Given the description of an element on the screen output the (x, y) to click on. 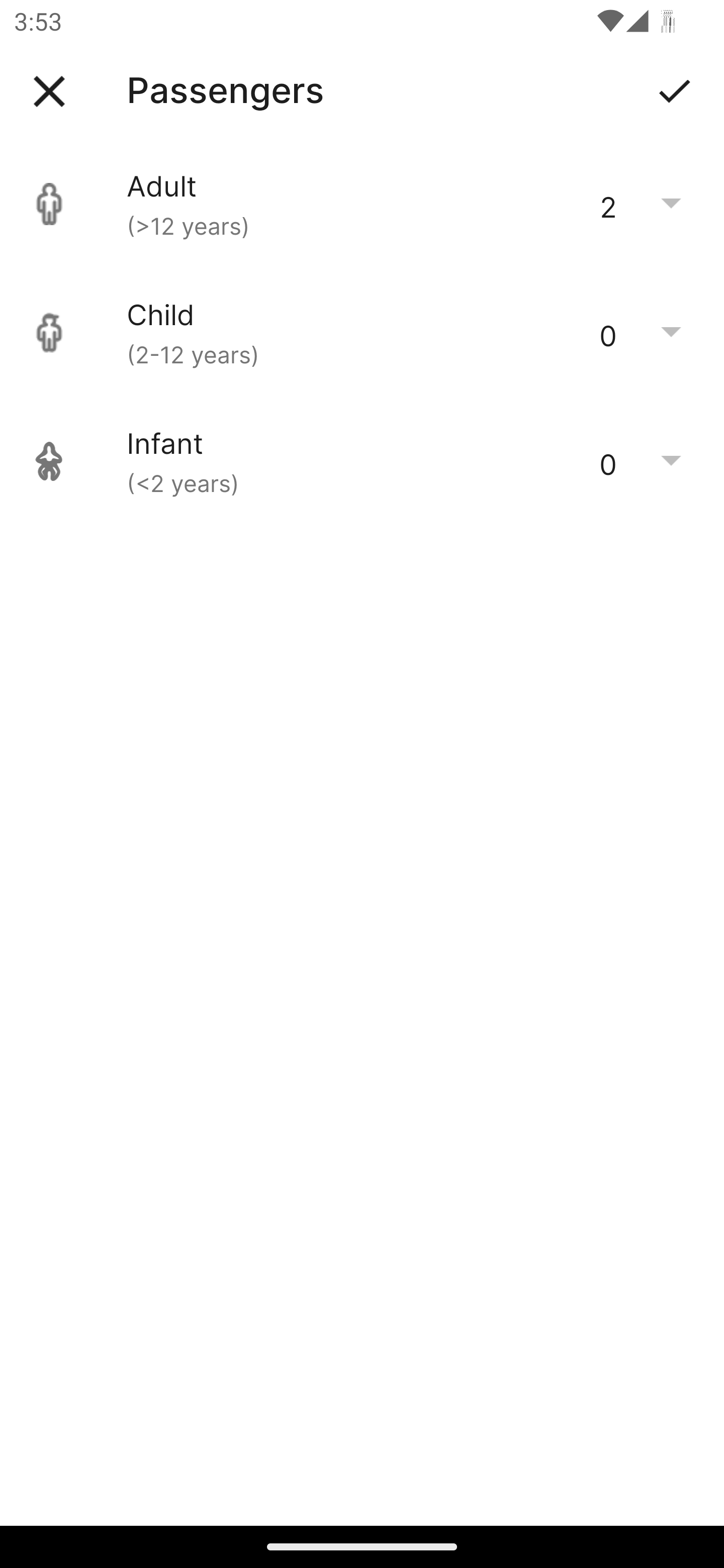
Adult (>12 years) 2 (362, 204)
Child (2-12 years) 0 (362, 332)
Infant (<2 years) 0 (362, 461)
